Given the description of an element on the screen output the (x, y) to click on. 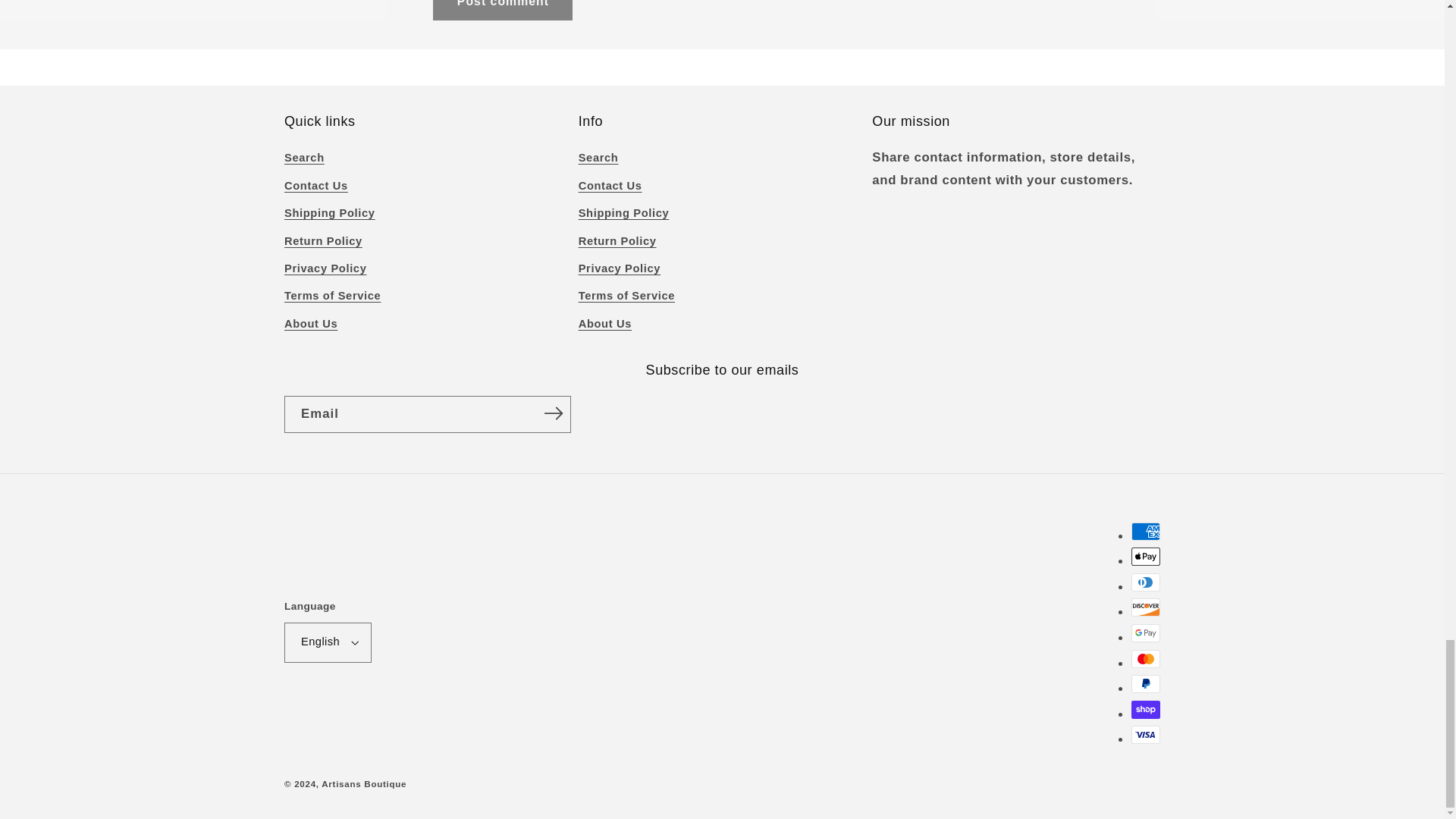
Terms of Service (331, 296)
Search (303, 159)
Privacy Policy (324, 268)
Shipping Policy (329, 213)
American Express (1145, 531)
Contact Us (315, 185)
Visa (1145, 734)
Diners Club (1145, 582)
Google Pay (1145, 633)
Mastercard (1145, 659)
